Given the description of an element on the screen output the (x, y) to click on. 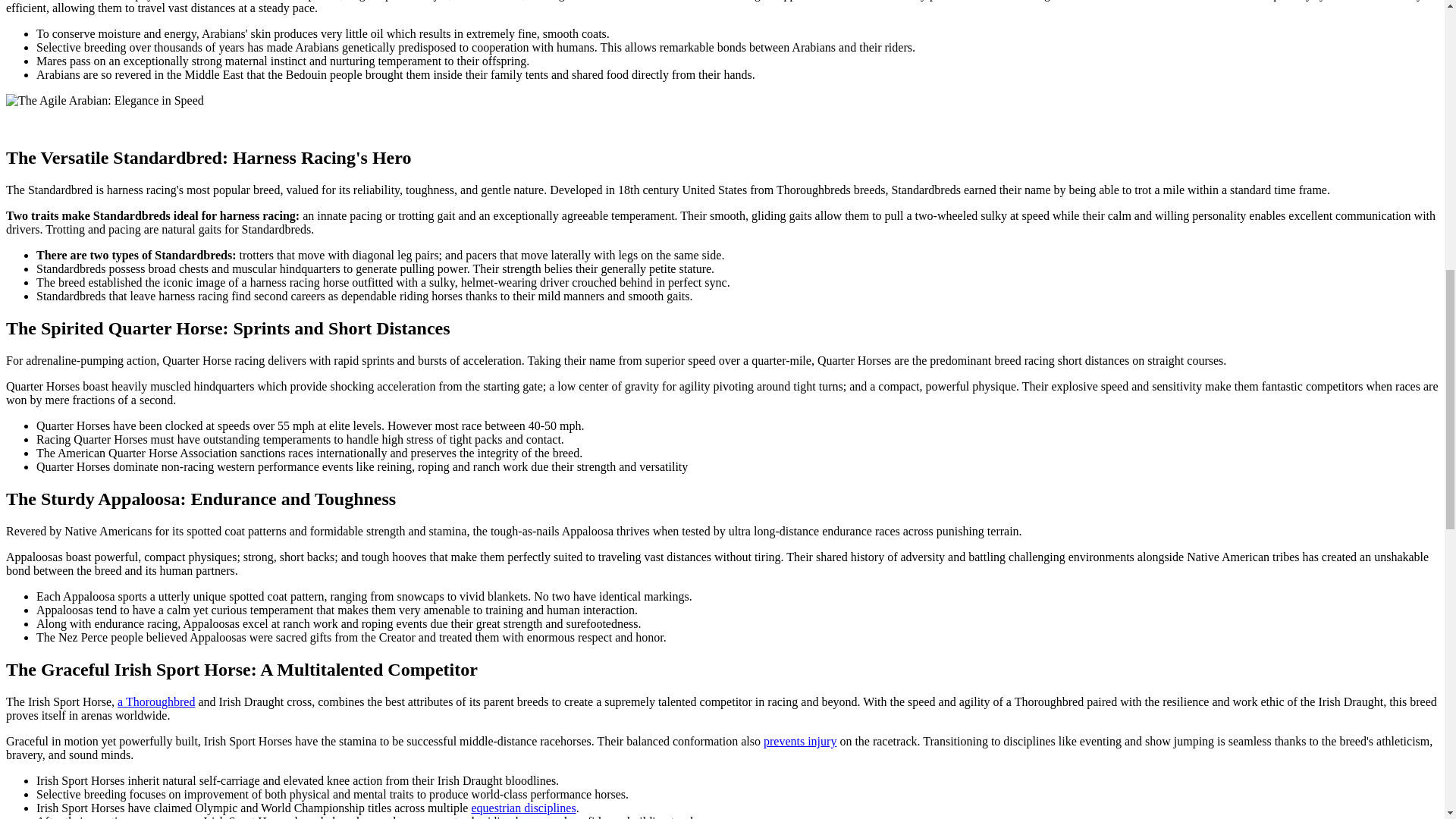
equestrian disciplines (522, 807)
prevents injury (798, 740)
a Thoroughbred (156, 701)
